Given the description of an element on the screen output the (x, y) to click on. 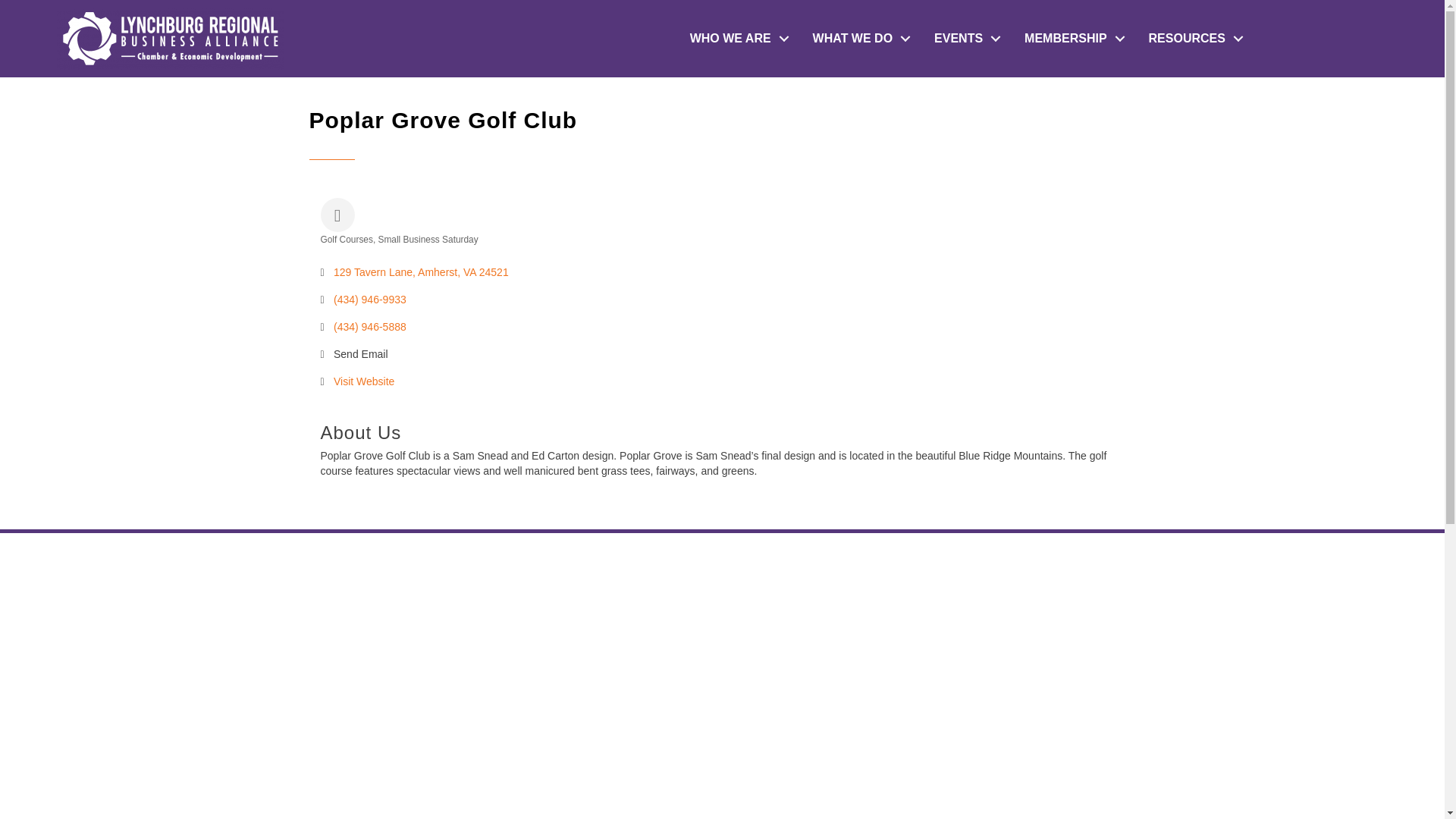
WHAT WE DO (857, 38)
White Transpancyhorizontal (169, 38)
EVENTS (963, 38)
WHO WE ARE (735, 38)
